Given the description of an element on the screen output the (x, y) to click on. 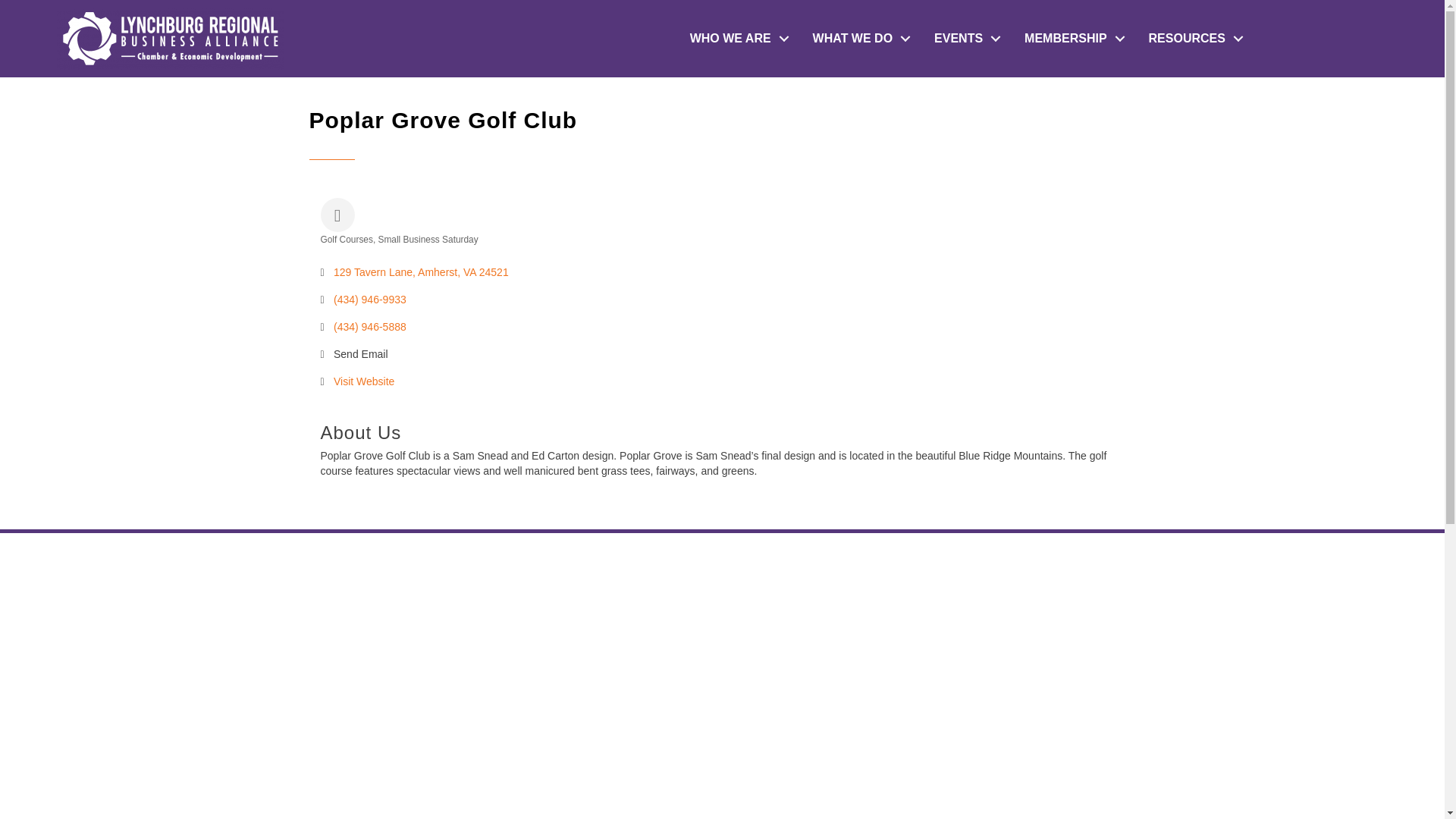
WHAT WE DO (857, 38)
White Transpancyhorizontal (169, 38)
EVENTS (963, 38)
WHO WE ARE (735, 38)
